Given the description of an element on the screen output the (x, y) to click on. 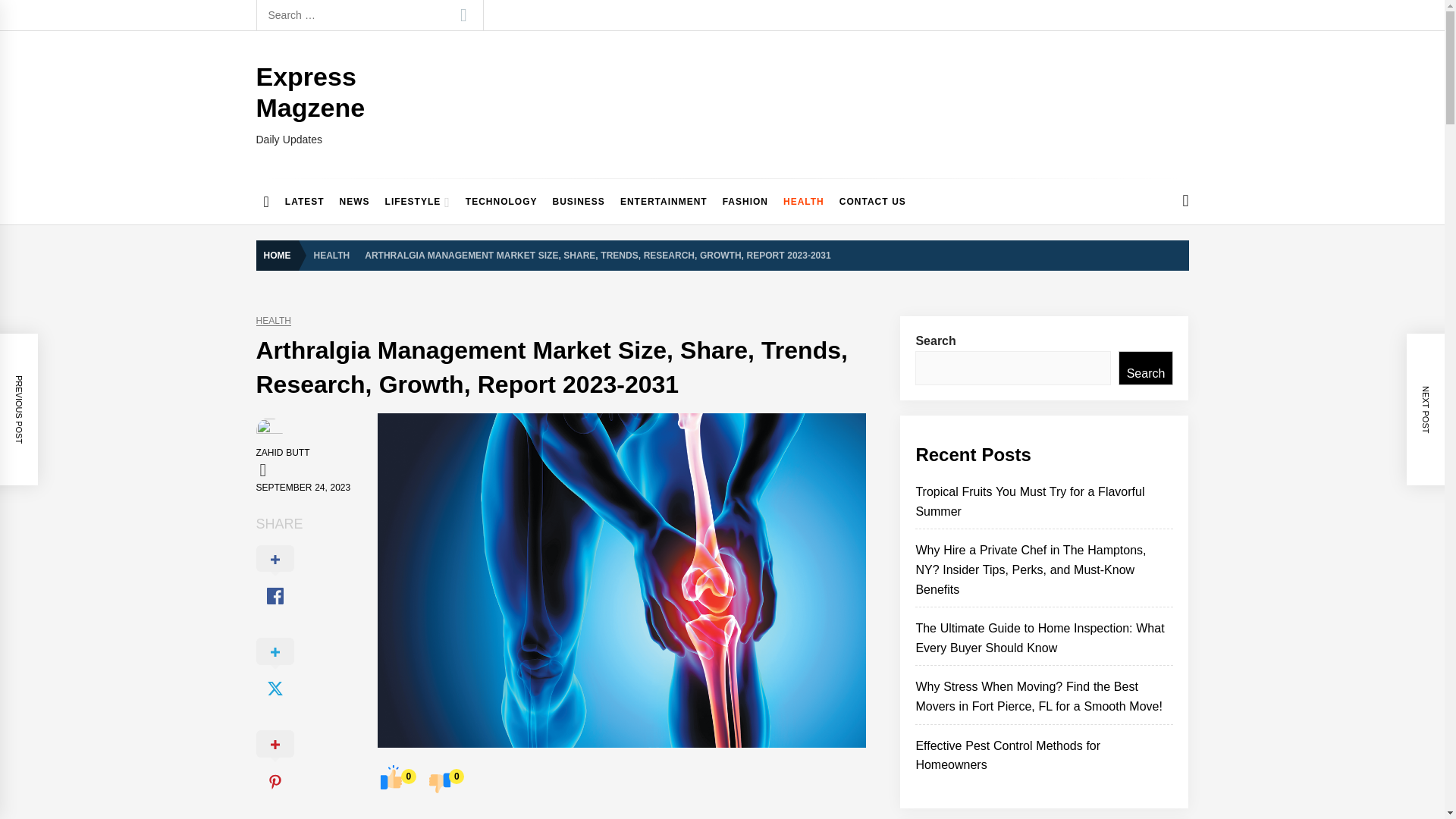
Express Magzene (310, 92)
ENTERTAINMENT (663, 201)
Search (462, 15)
LATEST (304, 201)
SEPTEMBER 24, 2023 (303, 487)
NEWS (354, 201)
LIFESTYLE (417, 201)
BUSINESS (578, 201)
HEALTH (803, 201)
Search (462, 15)
